Given the description of an element on the screen output the (x, y) to click on. 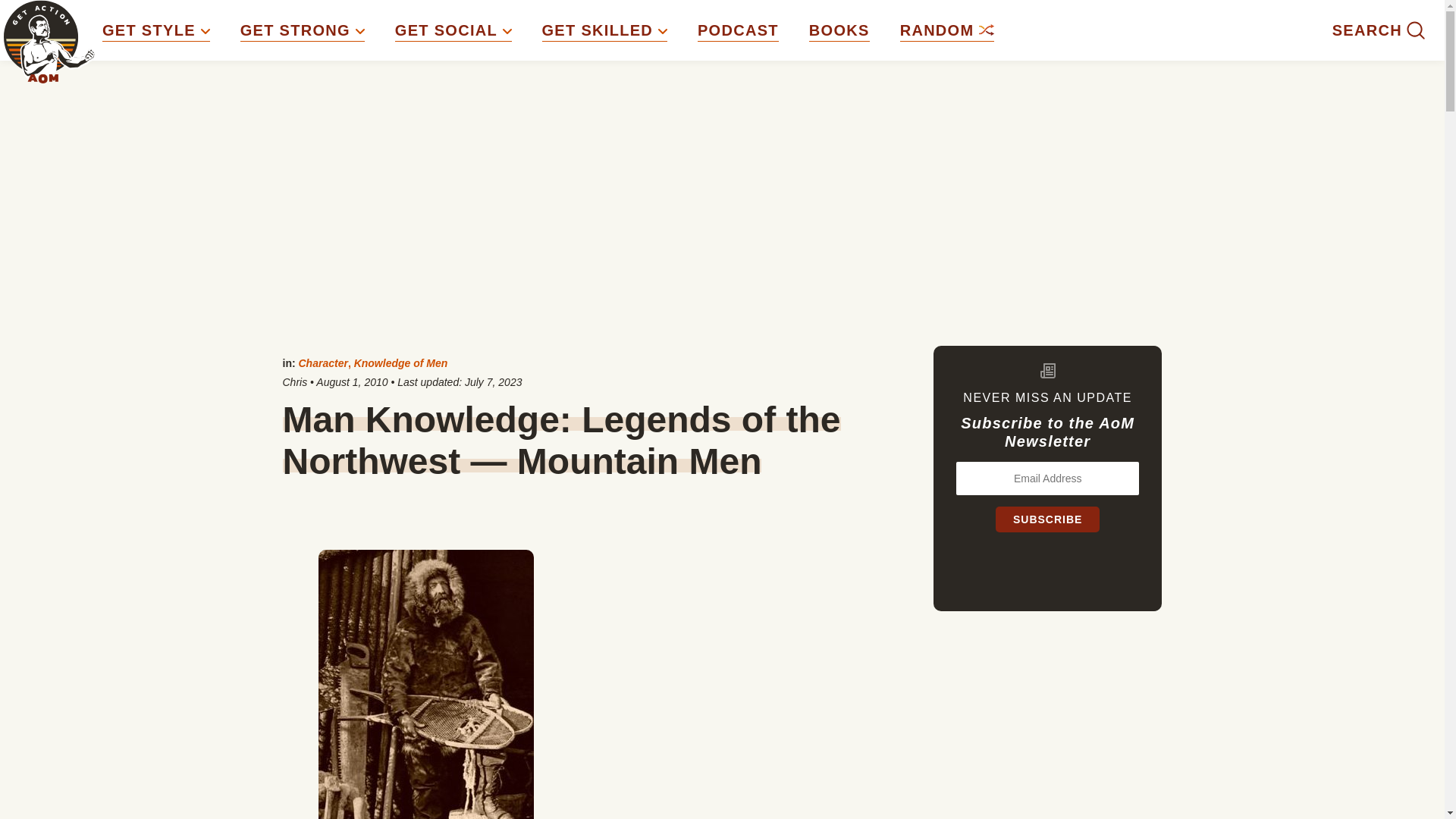
GET STYLE (155, 30)
Subscribe (1047, 519)
GET STRONG (302, 30)
PODCAST (737, 30)
GET SKILLED (603, 30)
BOOKS (839, 30)
GET SOCIAL (453, 30)
RANDOM (946, 30)
